Given the description of an element on the screen output the (x, y) to click on. 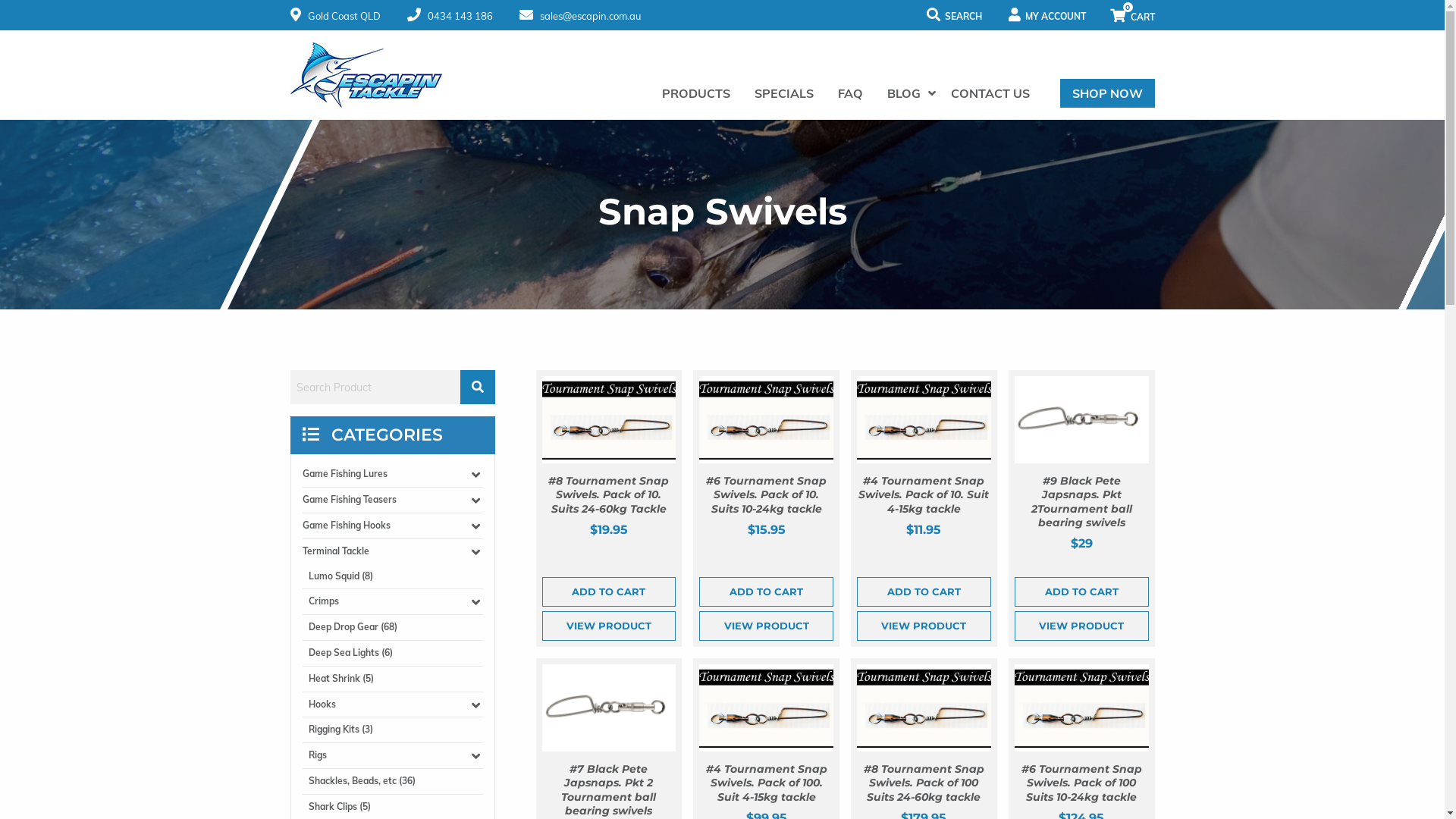
Deep Sea Lights (6) Element type: text (394, 652)
ADD TO CART Element type: text (923, 591)
Game Fishing Teasers Element type: text (391, 499)
PRODUCTS Element type: text (695, 92)
Shackles, Beads, etc (36) Element type: text (394, 780)
VIEW PRODUCT Element type: text (766, 625)
VIEW PRODUCT Element type: text (608, 625)
Rigs Element type: text (394, 755)
ADD TO CART Element type: text (766, 591)
ADD TO CART Element type: text (608, 591)
sales@escapin.com.au Element type: text (579, 15)
SEARCH Element type: text (954, 15)
FAQ Element type: text (849, 92)
#9 Black Pete Japsnaps. Pkt 2Tournament ball bearing swivels Element type: text (1081, 501)
#8 Tournament Snap Swivels. Pack of 10. Suits 24-60kg Tackle Element type: text (608, 494)
#8 Tournament Snap Swivels. Pack of 100 Suits 24-60kg tackle Element type: text (923, 782)
ADD TO CART Element type: text (1081, 591)
Crimps Element type: text (394, 601)
Rigging Kits (3) Element type: text (394, 729)
Hooks Element type: text (394, 704)
BLOG Element type: text (906, 92)
#4 Tournament Snap Swivels. Pack of 10. Suit 4-15kg tackle Element type: text (923, 494)
Gold Coast QLD Element type: text (334, 15)
SPECIALS Element type: text (783, 92)
MY ACCOUNT Element type: text (1046, 15)
0 Element type: text (1132, 15)
Game Fishing Hooks Element type: text (391, 525)
VIEW PRODUCT Element type: text (1081, 625)
Game Fishing Lures Element type: text (391, 473)
Terminal Tackle Element type: text (391, 551)
CONTACT US Element type: text (989, 92)
Heat Shrink (5) Element type: text (394, 678)
#4 Tournament Snap Swivels. Pack of 100. Suit 4-15kg tackle Element type: text (766, 782)
Lumo Squid (8) Element type: text (394, 576)
VIEW PRODUCT Element type: text (923, 625)
#6 Tournament Snap Swivels. Pack of 100 Suits 10-24kg tackle Element type: text (1081, 782)
SHOP NOW Element type: text (1107, 92)
#6 Tournament Snap Swivels. Pack of 10. Suits 10-24kg tackle Element type: text (766, 494)
Deep Drop Gear (68) Element type: text (394, 627)
0434 143 186 Element type: text (449, 15)
